Given the description of an element on the screen output the (x, y) to click on. 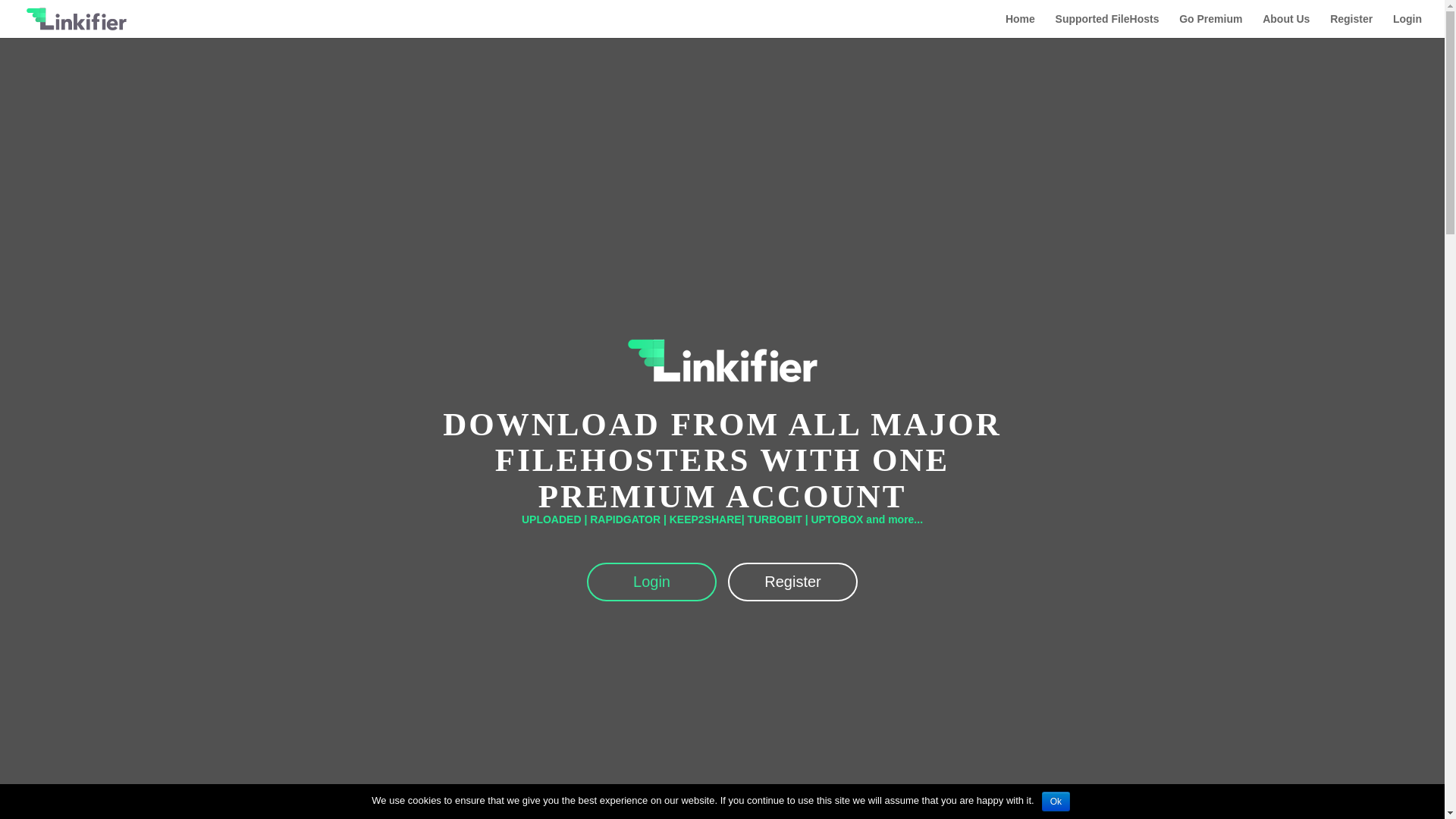
Register (792, 581)
Go Premium (1210, 25)
Login (651, 581)
Register (1351, 25)
Home (1020, 25)
Ok (1056, 801)
About Us (1285, 25)
Supported FileHosts (1106, 25)
Login (1407, 25)
